Given the description of an element on the screen output the (x, y) to click on. 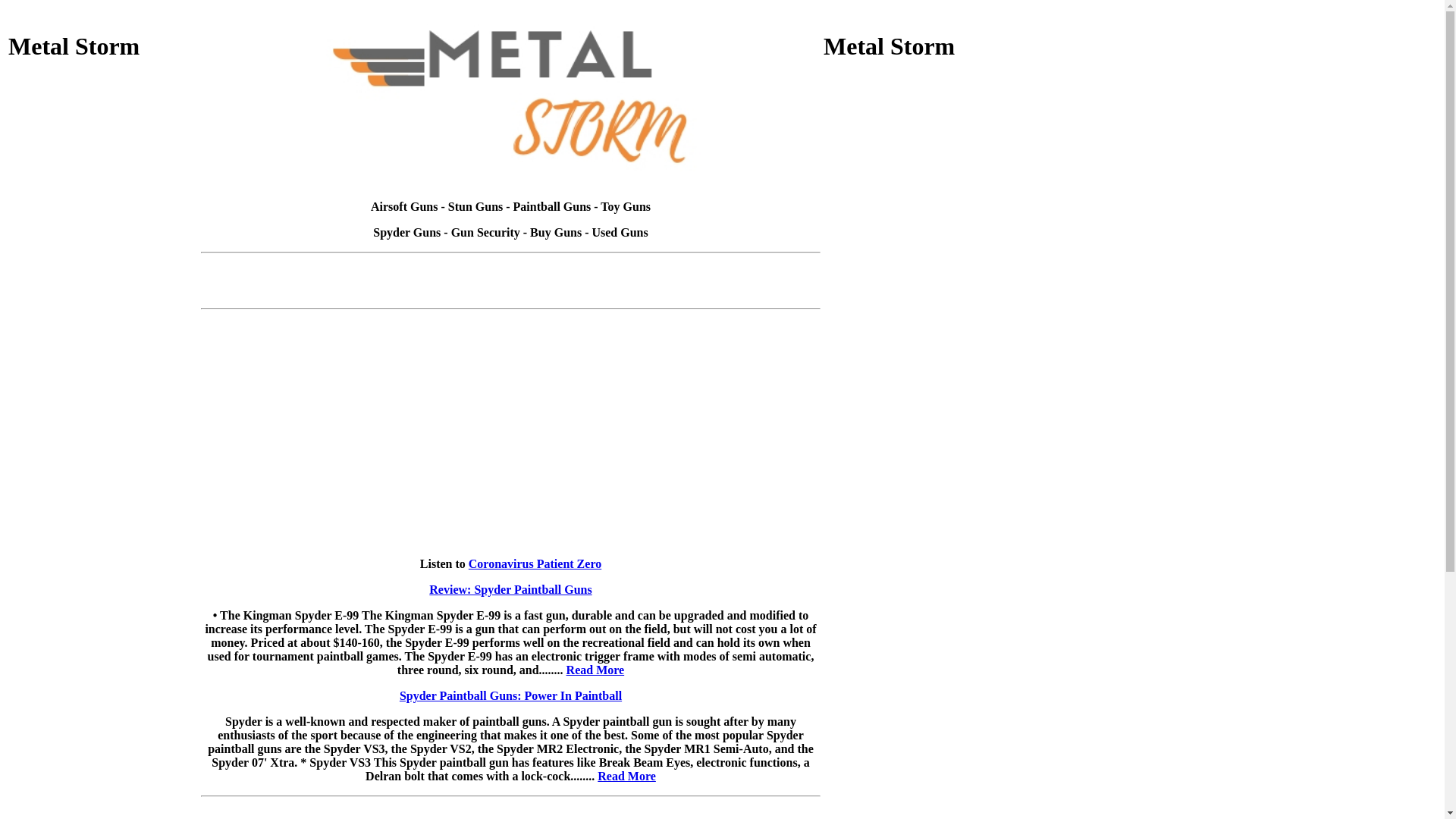
Review: Spyder Paintball Guns Element type: text (510, 589)
Toy Guns Element type: text (625, 206)
Paintball Guns Element type: text (552, 206)
Used Guns Element type: text (619, 231)
Stun Guns Element type: text (475, 206)
Airsoft Guns Element type: text (403, 206)
Advertisement Element type: hover (102, 592)
Advertisement Element type: hover (511, 292)
Spyder Paintball Guns: Power In Paintball Element type: text (510, 695)
Advertisement Element type: hover (918, 592)
Advertisement Element type: hover (918, 385)
Coronavirus Patient Zero Element type: text (534, 563)
Gun Security Element type: text (485, 231)
Advertisement Element type: hover (511, 264)
Advertisement Element type: hover (918, 179)
Advertisement Element type: hover (102, 179)
Spyder Guns Element type: text (406, 231)
Advertisement Element type: hover (102, 385)
Read More Element type: text (626, 775)
Buy Guns Element type: text (555, 231)
Read More Element type: text (595, 669)
